Given the description of an element on the screen output the (x, y) to click on. 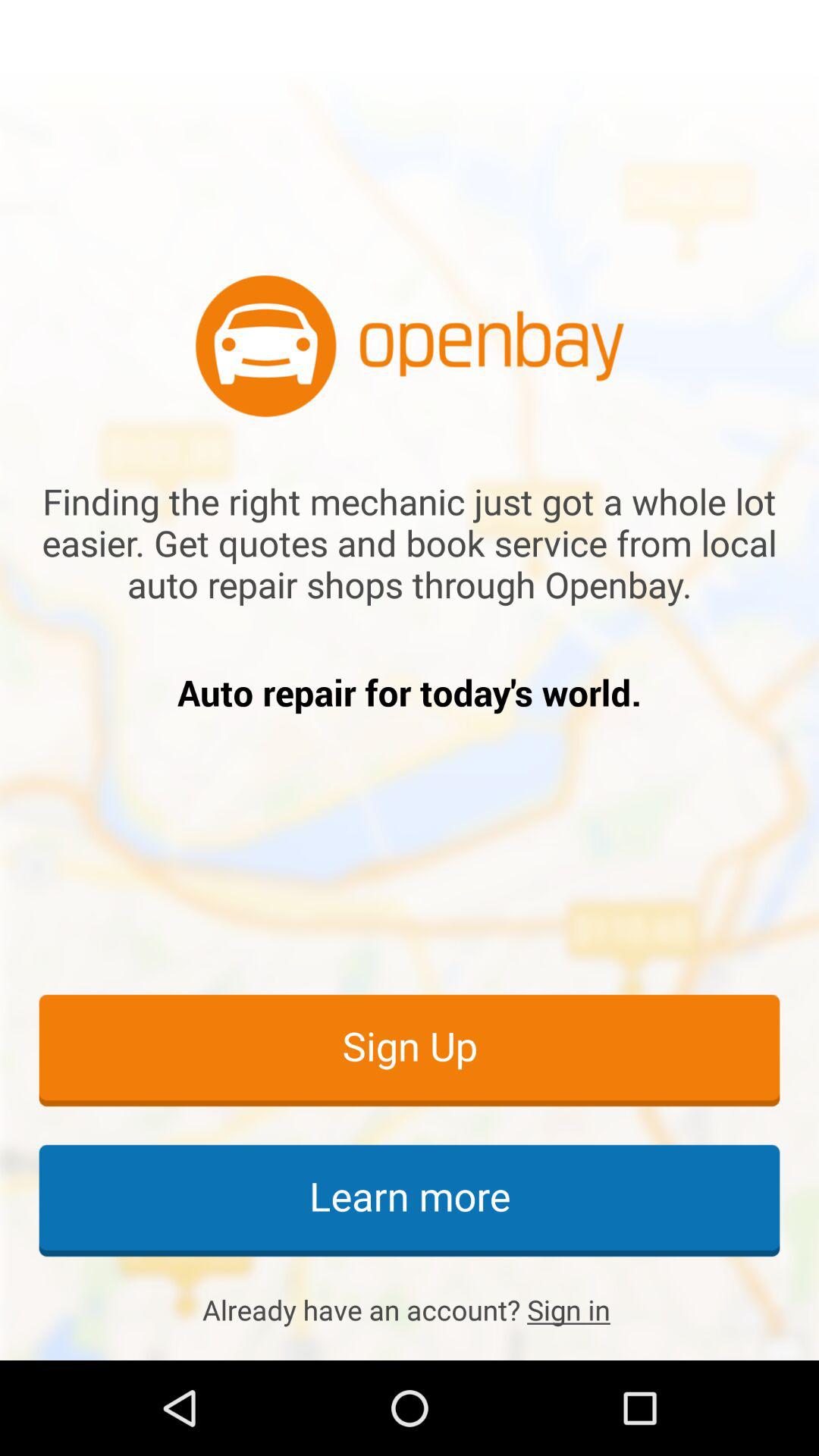
scroll to the sign up item (409, 1049)
